Given the description of an element on the screen output the (x, y) to click on. 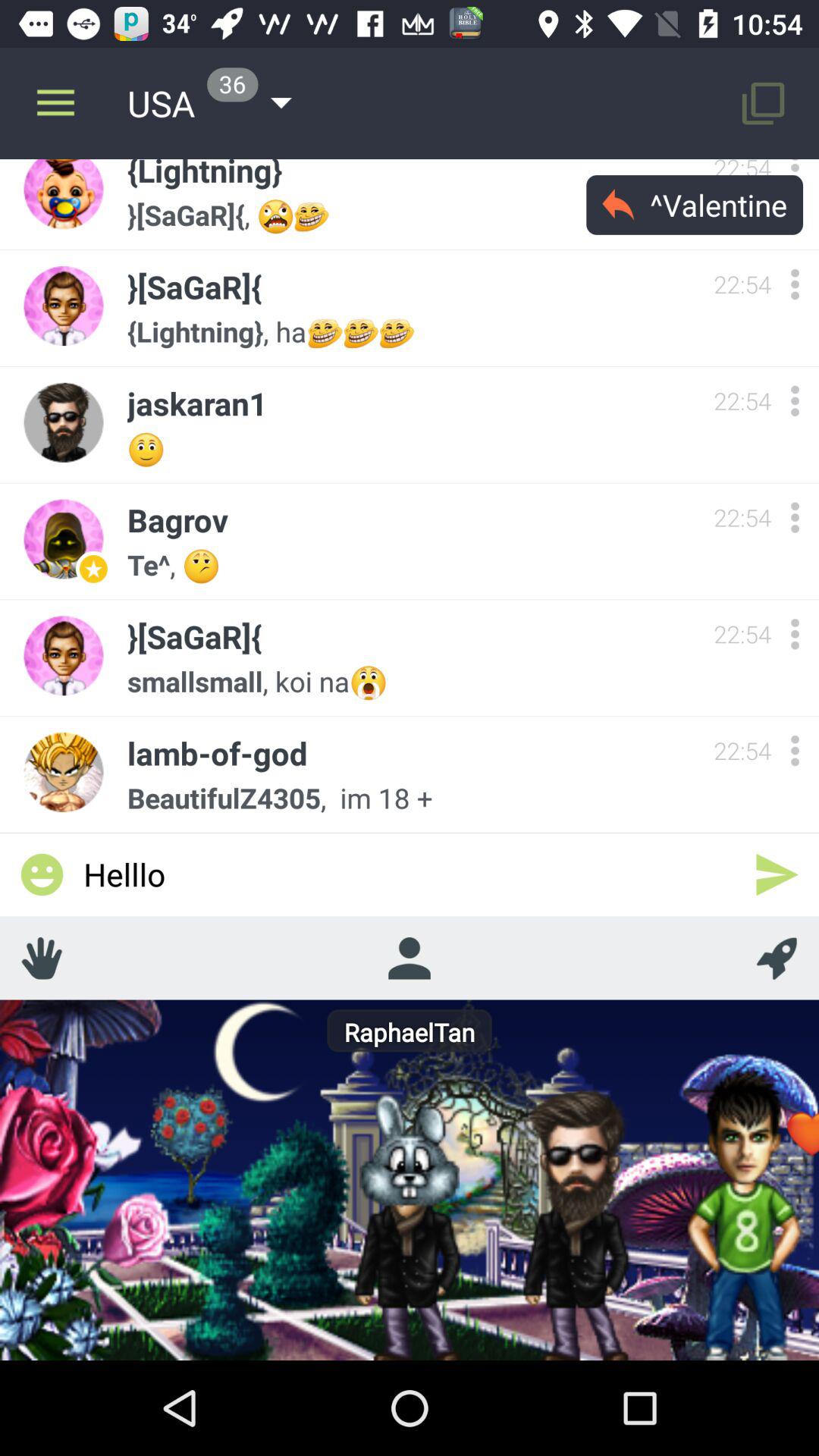
open options menu (795, 750)
